Given the description of an element on the screen output the (x, y) to click on. 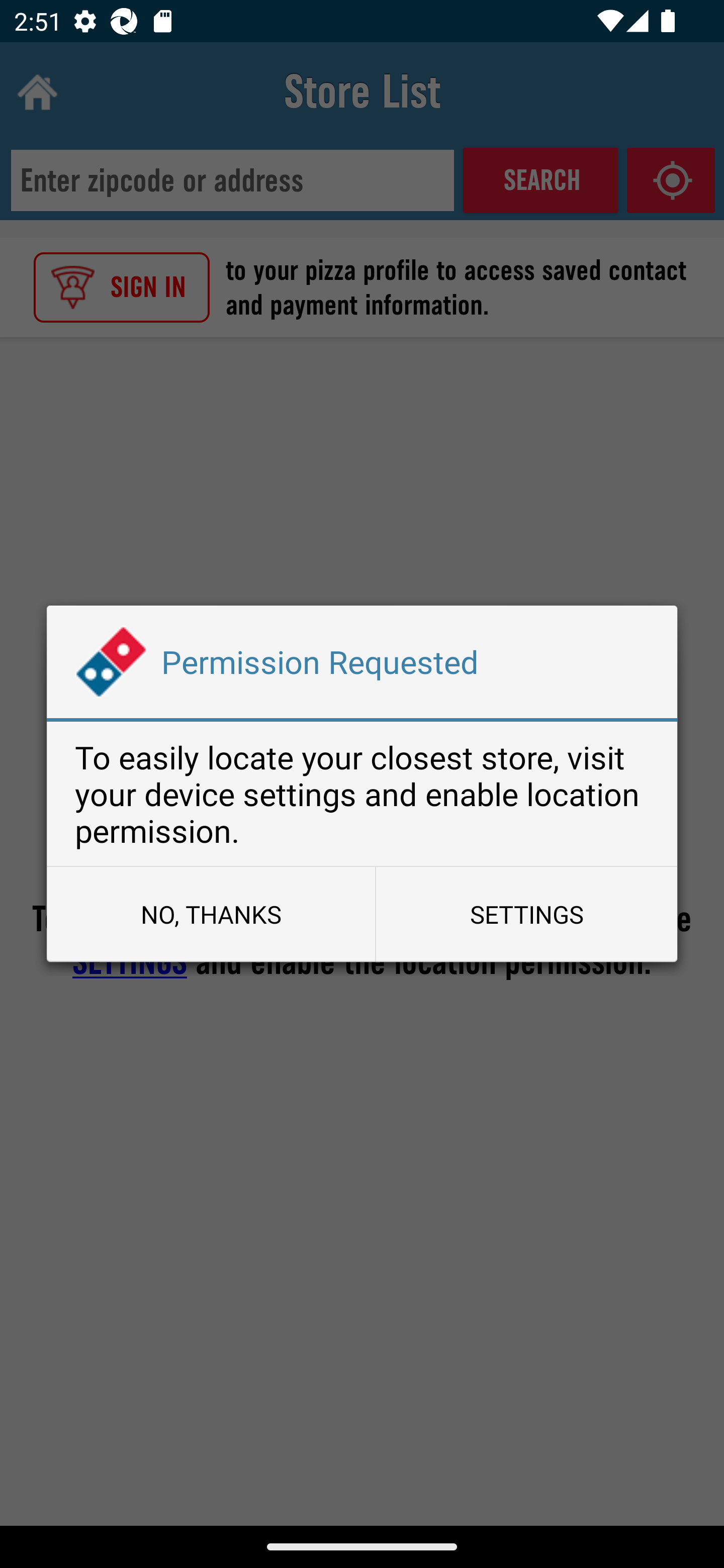
NO, THANKS (211, 914)
SETTINGS (525, 914)
